Given the description of an element on the screen output the (x, y) to click on. 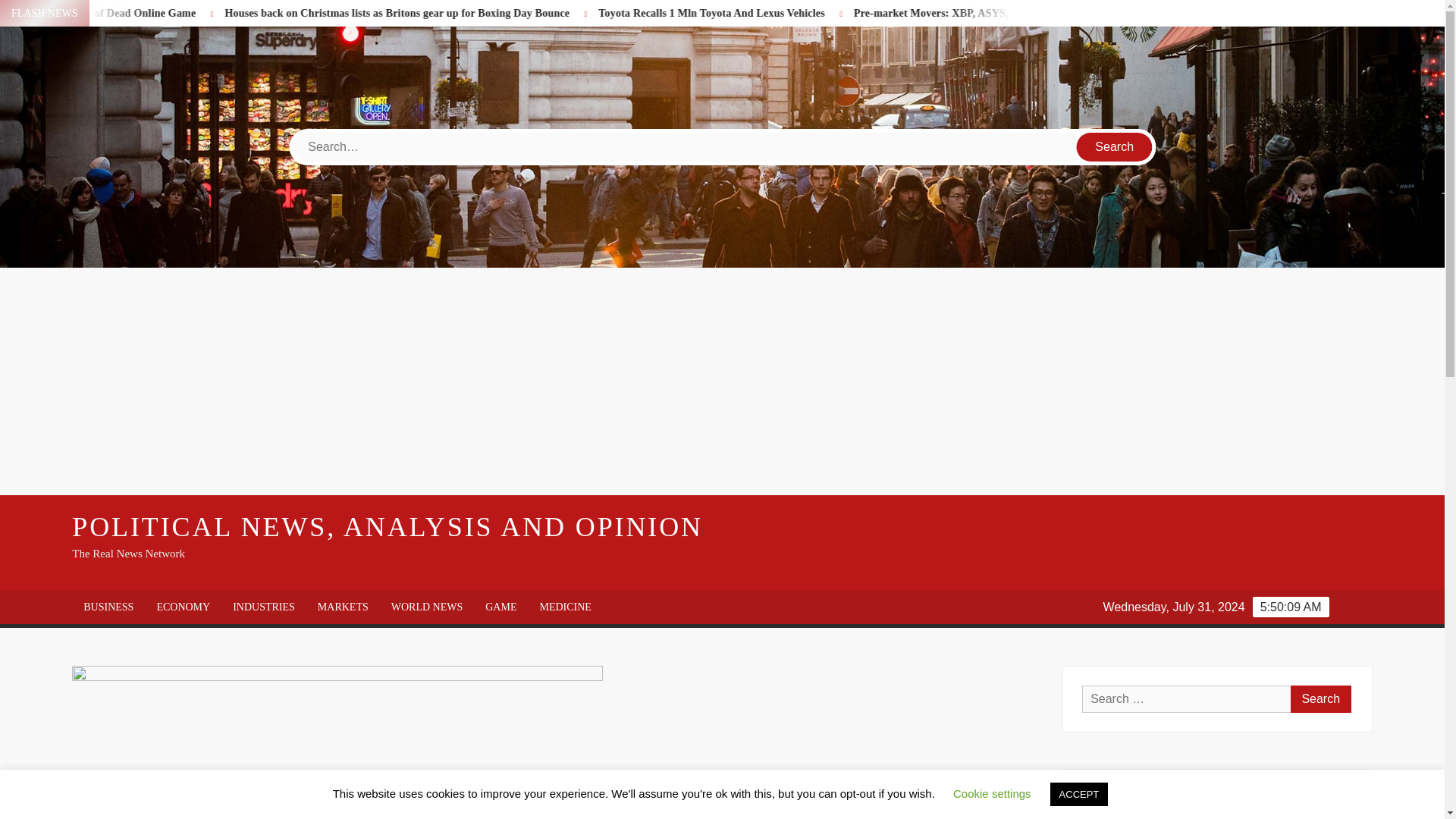
ECONOMY (182, 606)
Search (1320, 698)
MEDICINE (564, 606)
Search (1115, 146)
MARKETS (342, 606)
Search (1115, 146)
POLITICAL NEWS, ANALYSIS AND OPINION (387, 526)
Search (1320, 698)
Toyota Recalls 1 Mln Toyota And Lexus Vehicles (885, 12)
Search (1115, 146)
INDUSTRIES (263, 606)
GAME (500, 606)
BUSINESS (107, 606)
